Given the description of an element on the screen output the (x, y) to click on. 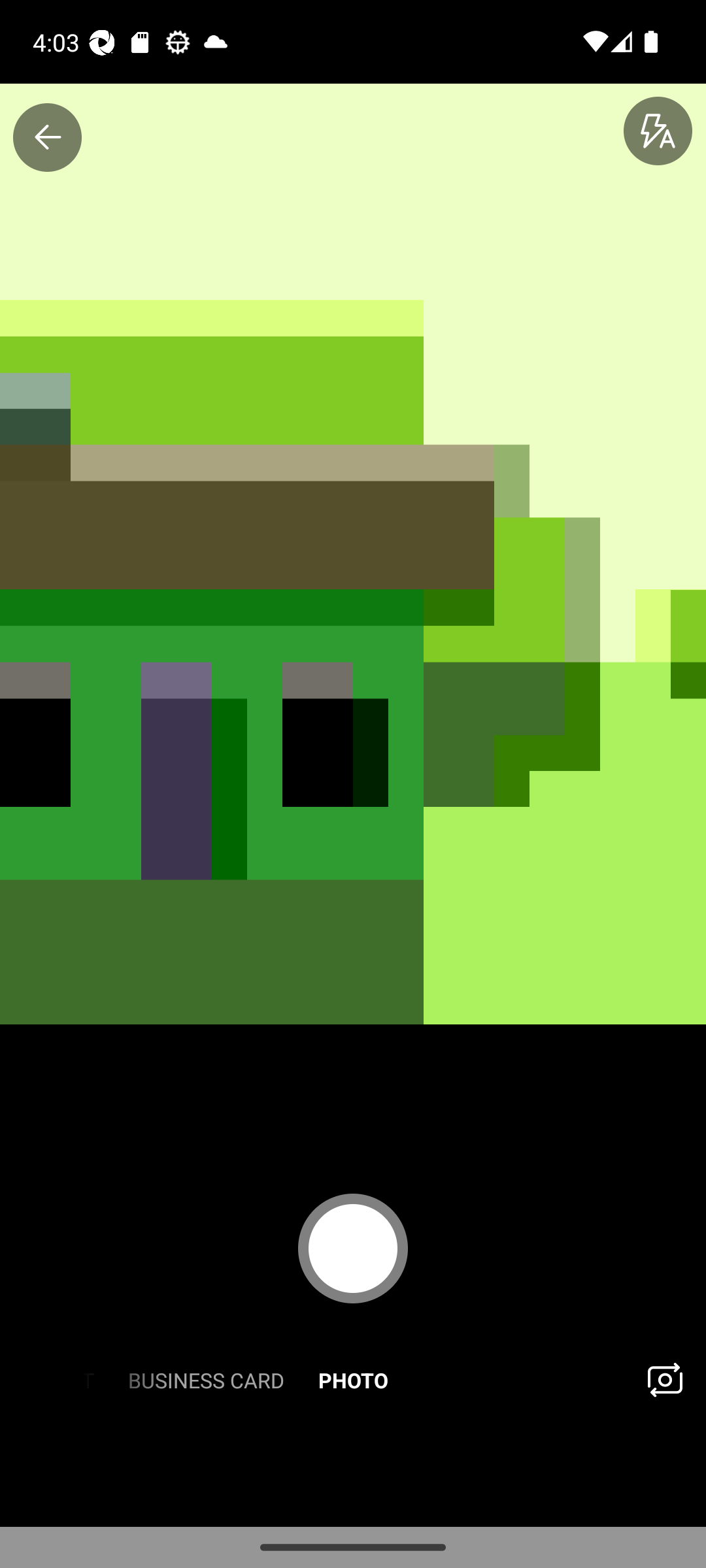
Flash Auto (658, 131)
Close (47, 137)
Capture (352, 1248)
Flip Camera (664, 1378)
BUSINESS CARD (205, 1379)
PHOTO (352, 1379)
